Given the description of an element on the screen output the (x, y) to click on. 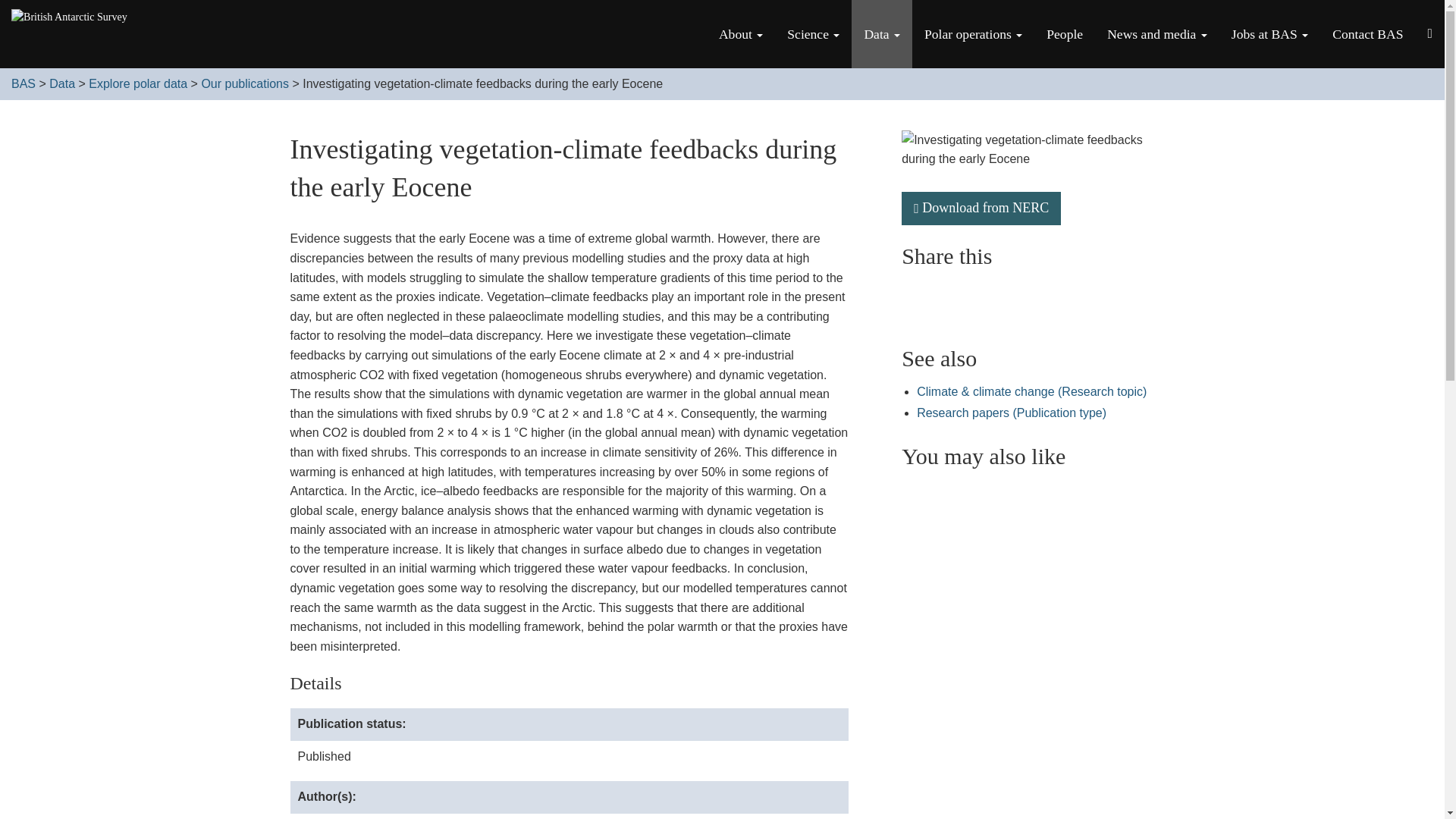
About (740, 33)
